Given the description of an element on the screen output the (x, y) to click on. 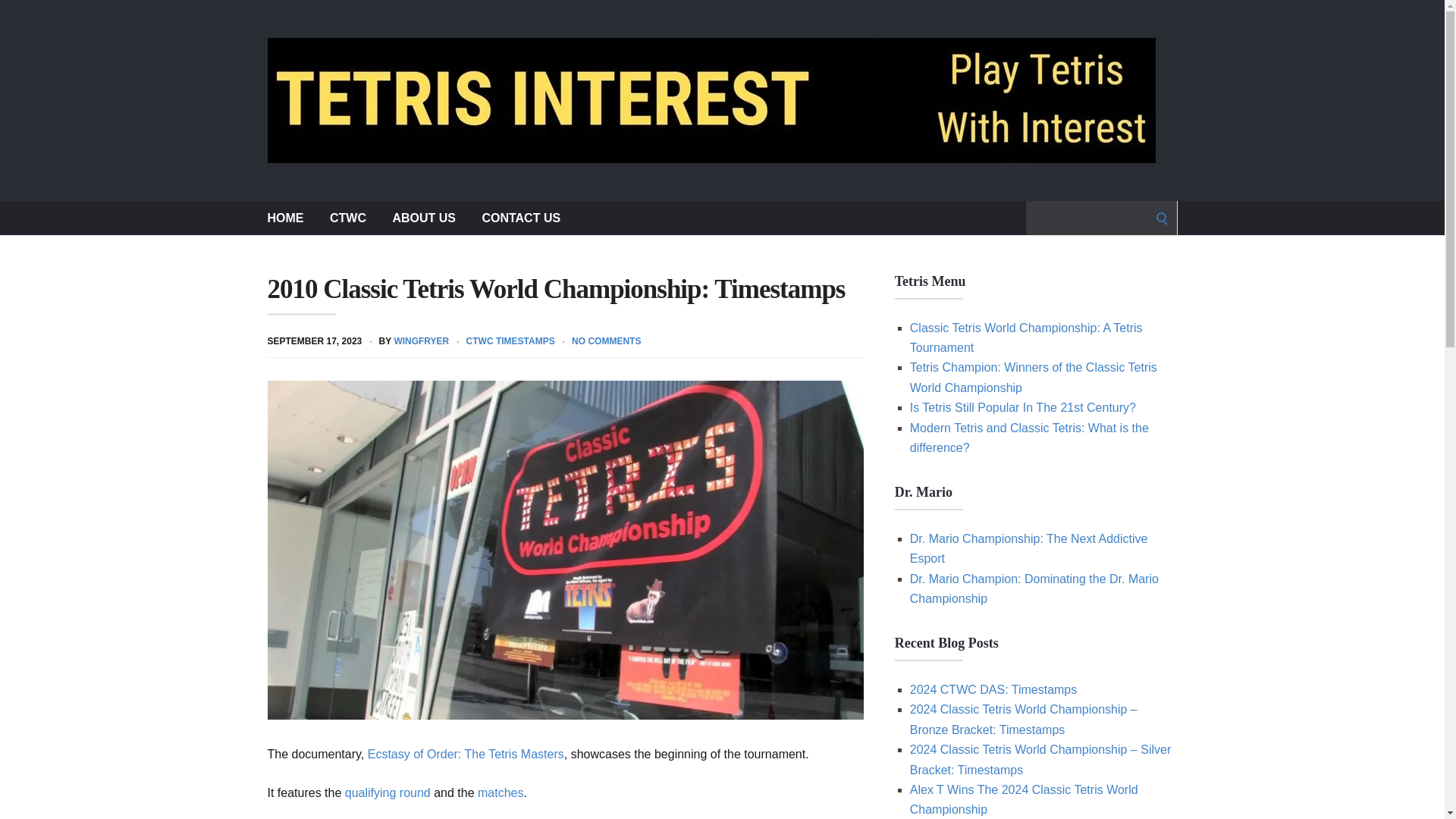
Ecstasy of Order: The Tetris Masters (466, 753)
Posts by Wingfryer (420, 340)
Modern Tetris and Classic Tetris: What is the difference? (1029, 437)
2024 CTWC DAS: Timestamps (993, 689)
CTWC TIMESTAMPS (509, 340)
Dr. Mario Champion: Dominating the Dr. Mario Championship (1034, 588)
CTWC (348, 217)
Dr. Mario Championship: The Next Addictive Esport (1029, 548)
CONTACT US (520, 217)
Search (16, 17)
matches (499, 792)
HOME (284, 217)
Classic Tetris World Championship: A Tetris Tournament (1026, 337)
WINGFRYER (420, 340)
qualifying round (387, 792)
